Given the description of an element on the screen output the (x, y) to click on. 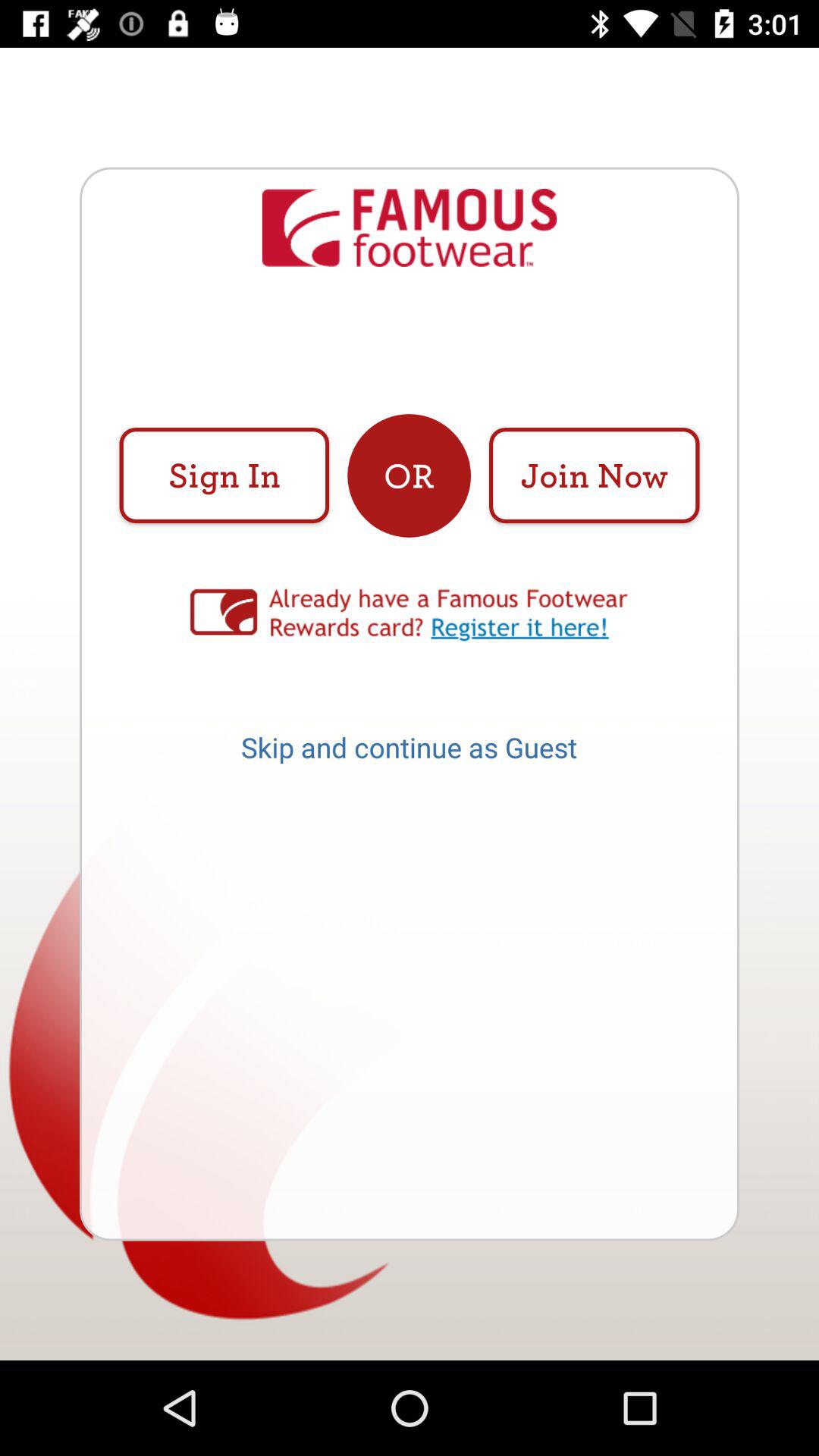
click the icon at the top left corner (224, 475)
